Given the description of an element on the screen output the (x, y) to click on. 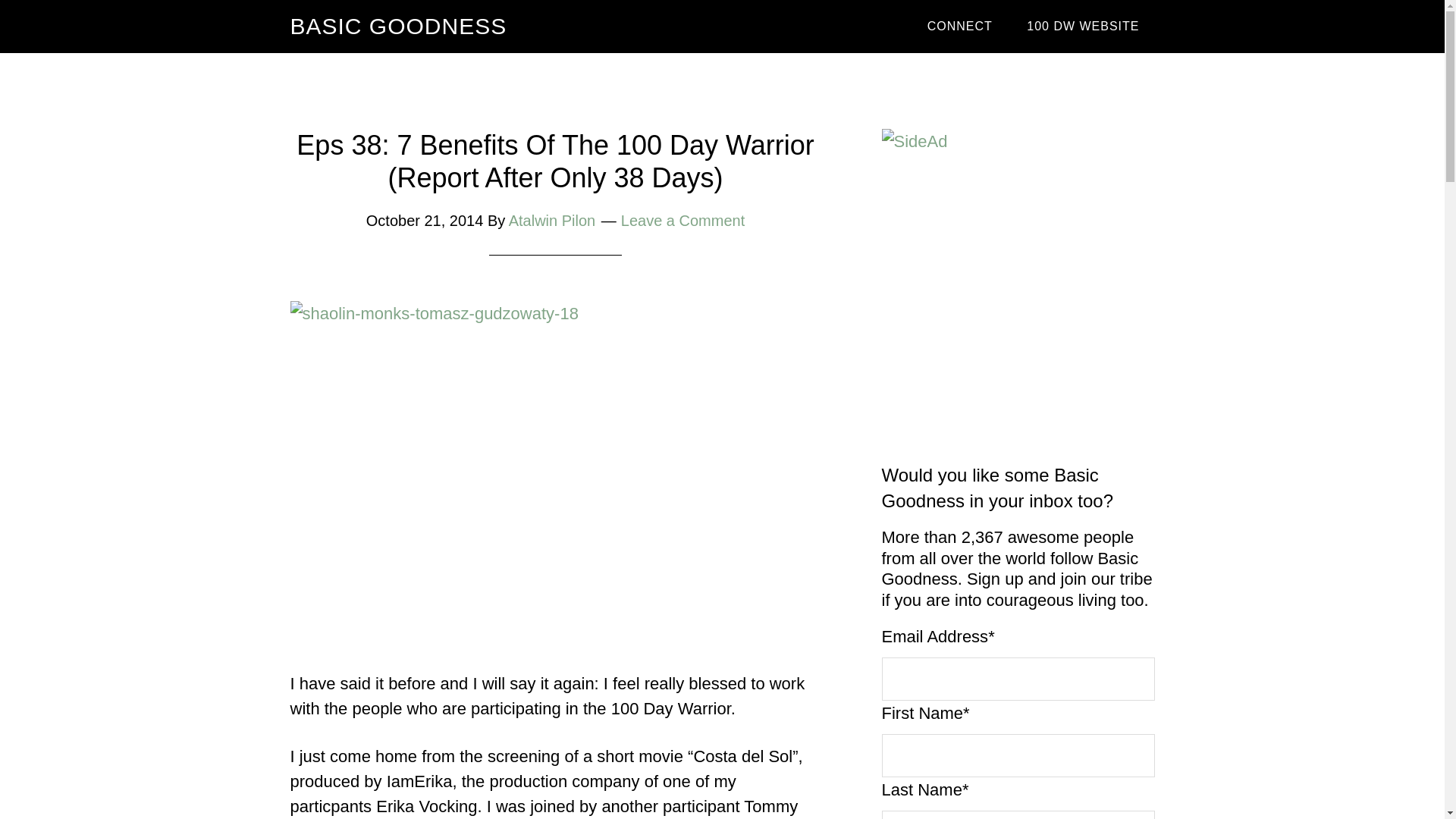
Atalwin Pilon (551, 220)
Leave a Comment (682, 220)
BASIC GOODNESS (397, 25)
100 DW WEBSITE (1082, 26)
CONNECT (959, 26)
